Given the description of an element on the screen output the (x, y) to click on. 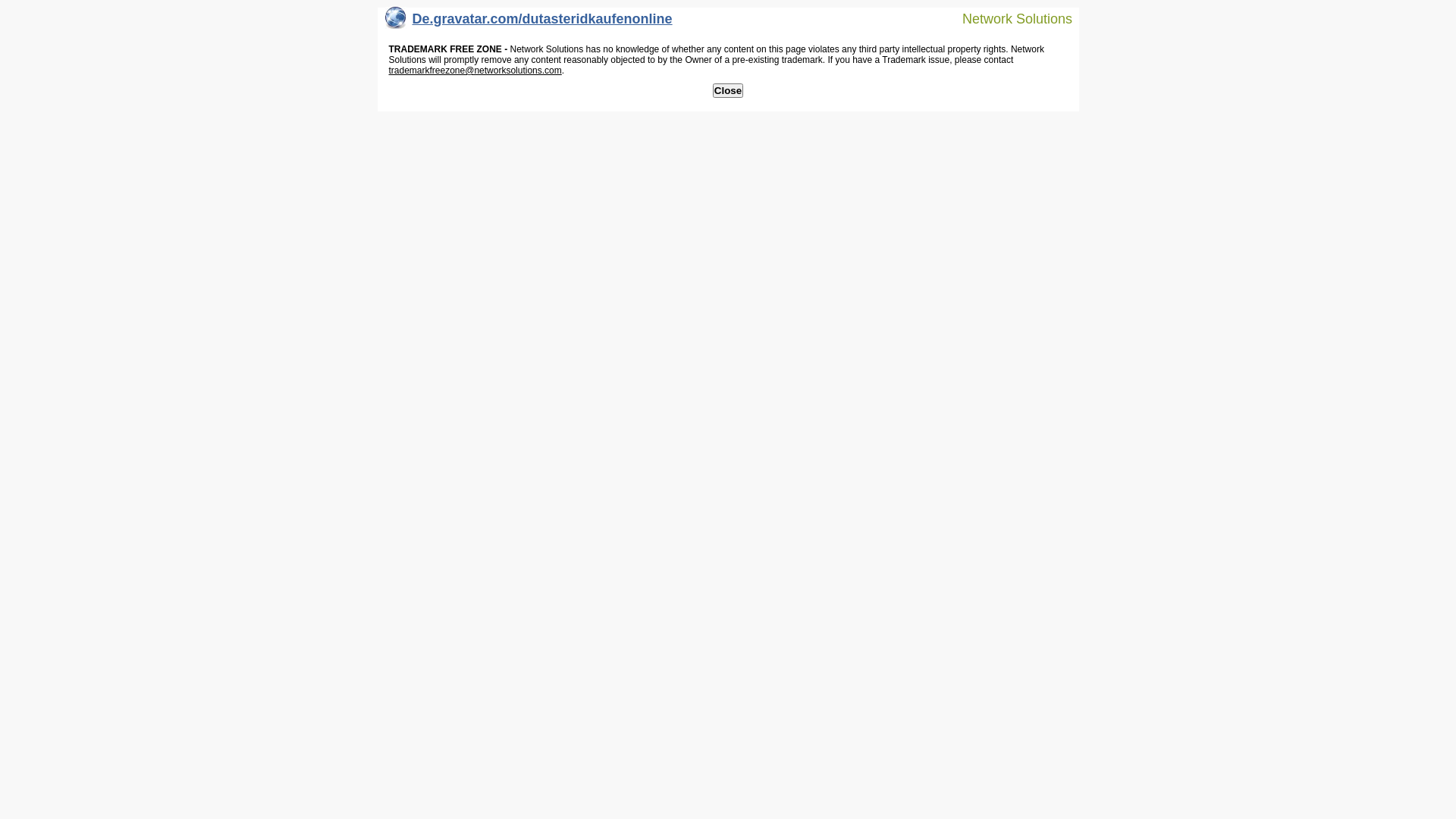
Close Element type: text (727, 90)
Network Solutions Element type: text (1007, 17)
trademarkfreezone@networksolutions.com Element type: text (474, 70)
De.gravatar.com/dutasteridkaufenonline Element type: text (528, 21)
